Given the description of an element on the screen output the (x, y) to click on. 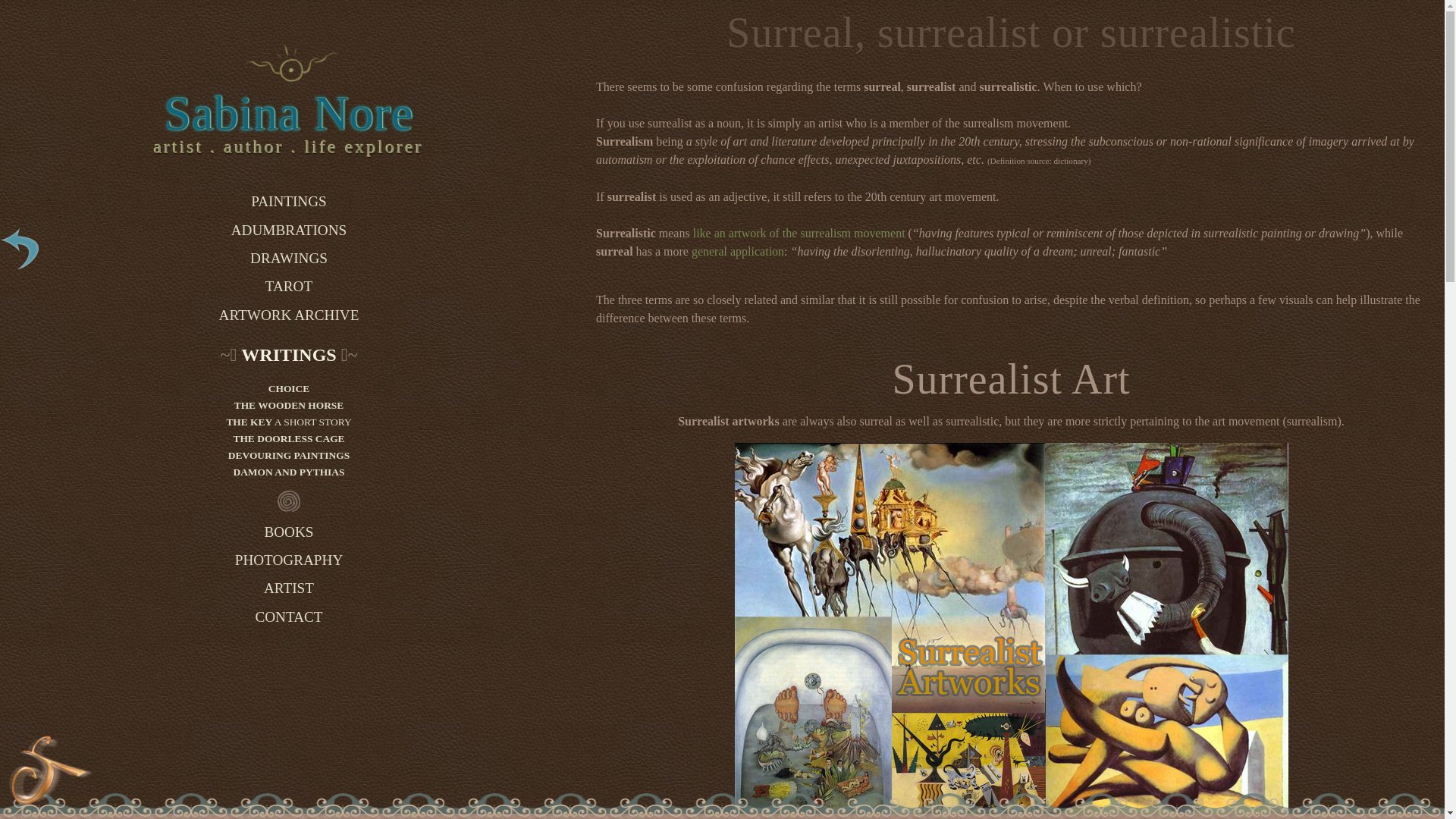
TAROT (288, 286)
THE DOORLESS CAGE (288, 437)
Sabina (289, 63)
DEVOURING PAINTINGS (288, 454)
ADUMBRATIONS (288, 230)
THE KEY A SHORT STORY (288, 421)
Back to writings (22, 249)
THE WOODEN HORSE (288, 404)
Sabina Nore (288, 113)
ARTIST (288, 588)
DAMON AND PYTHIAS (288, 471)
DRAWINGS (288, 257)
CONTACT (288, 616)
PHOTOGRAPHY (288, 560)
